Given the description of an element on the screen output the (x, y) to click on. 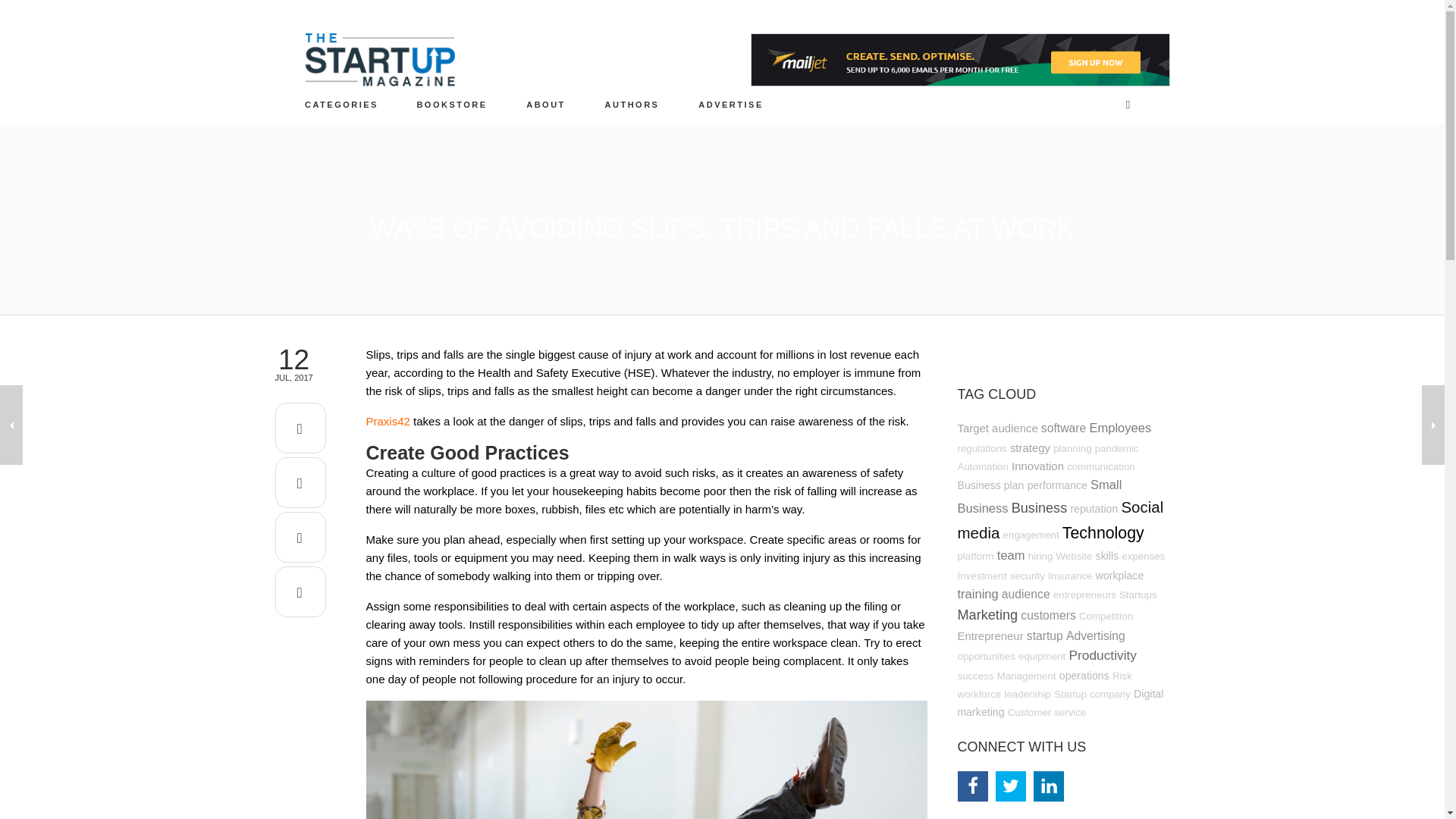
Welcome to The Startup Magazine (545, 103)
CATEGORIES (341, 103)
190 topics (1101, 466)
159 topics (981, 466)
177 topics (1116, 448)
AUTHORS (632, 103)
Categories (341, 103)
ADVERTISE (731, 103)
267 topics (996, 427)
234 topics (1057, 485)
